Given the description of an element on the screen output the (x, y) to click on. 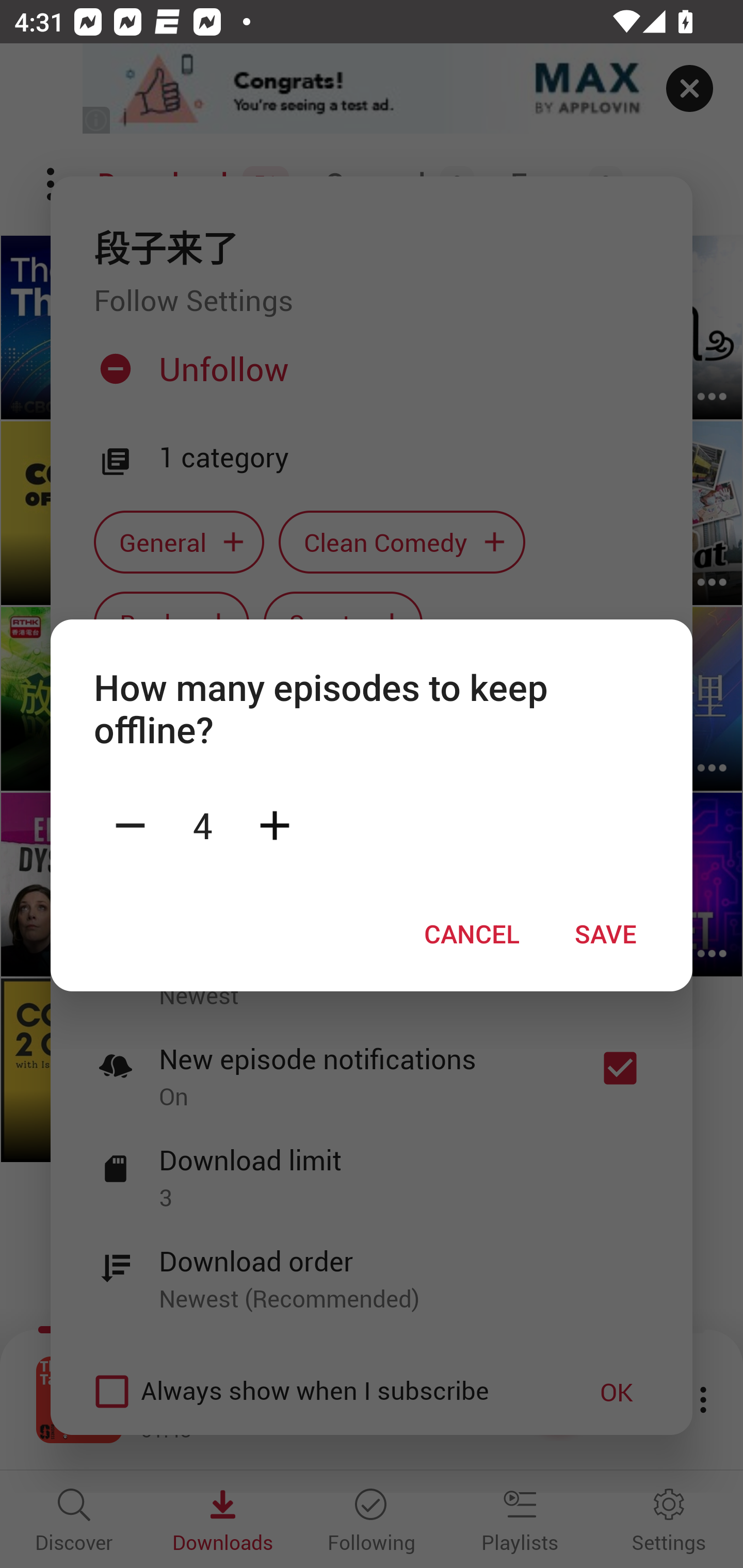
Minus (129, 824)
Plus (274, 824)
CANCEL (470, 933)
SAVE (605, 933)
